Given the description of an element on the screen output the (x, y) to click on. 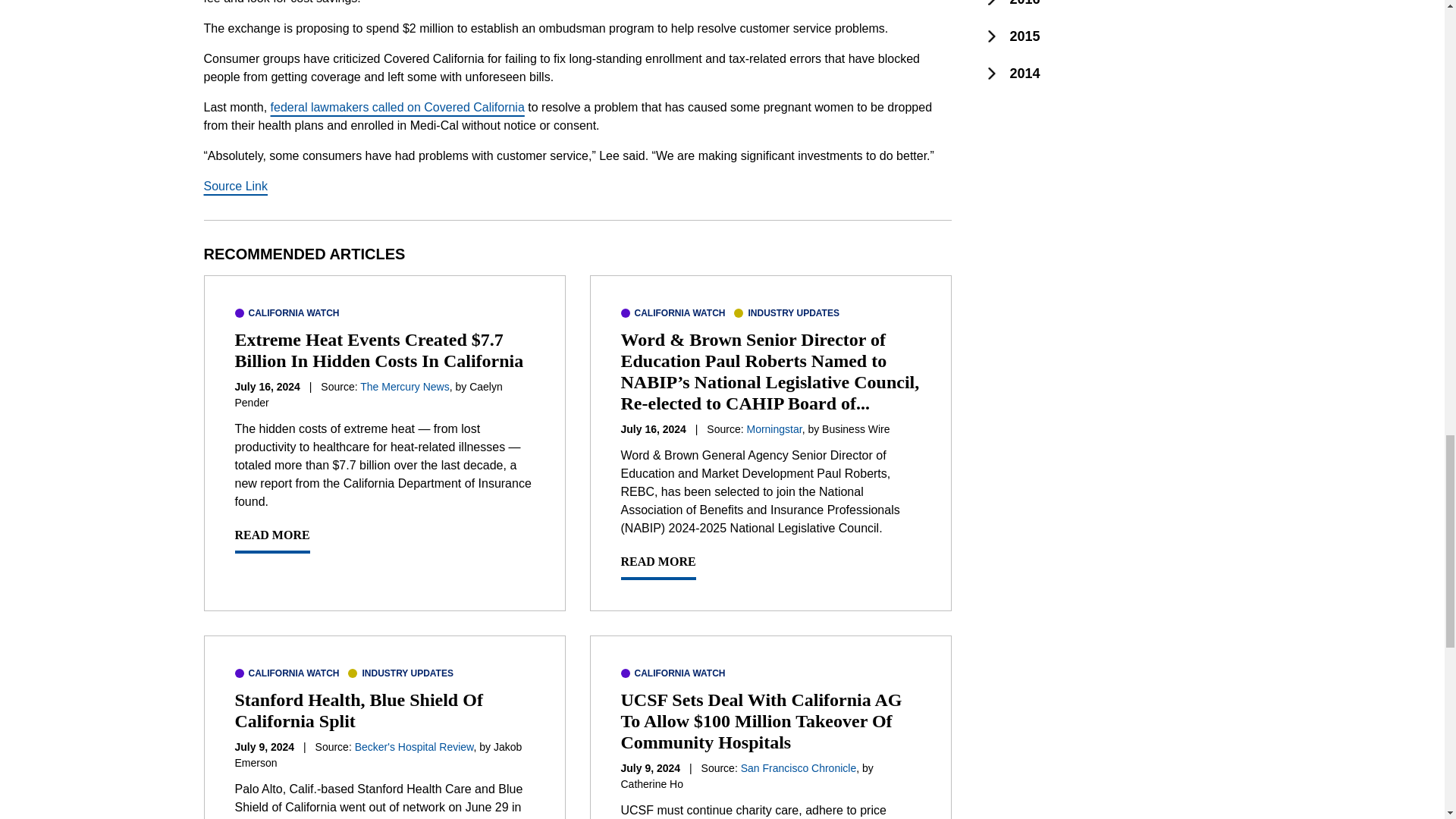
INDUSTRY UPDATES (785, 313)
CALIFORNIA WATCH (672, 673)
Becker's Hospital Review (414, 746)
INDUSTRY UPDATES (399, 673)
CALIFORNIA WATCH (286, 673)
Source Link (235, 185)
San Francisco Chronicle (799, 767)
The Mercury News (403, 386)
federal lawmakers called on Covered California (397, 106)
Stanford Health, Blue Shield Of California Split (358, 710)
READ MORE (657, 565)
READ MORE (272, 539)
Morningstar (773, 428)
CALIFORNIA WATCH (672, 313)
CALIFORNIA WATCH (286, 313)
